Given the description of an element on the screen output the (x, y) to click on. 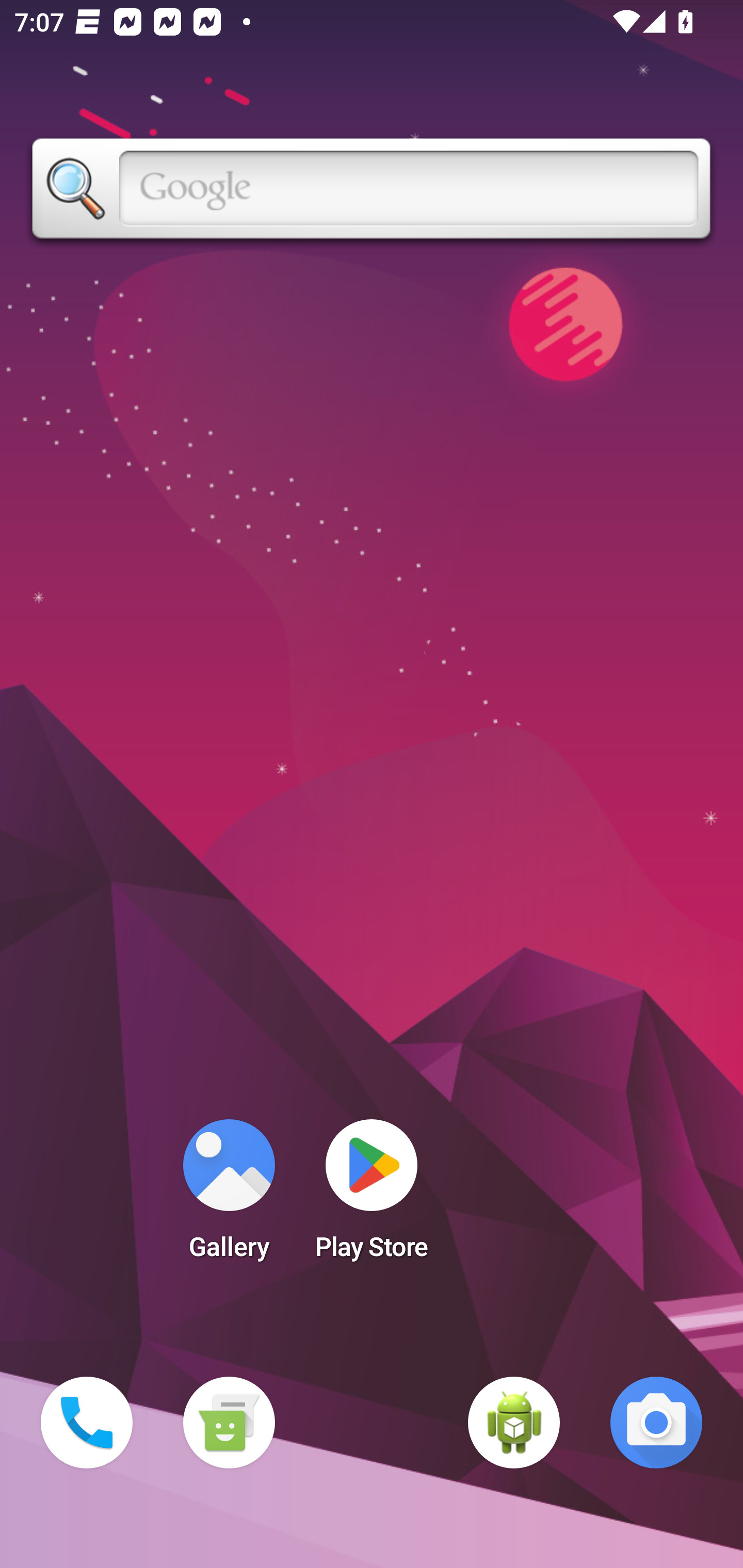
Gallery (228, 1195)
Play Store (371, 1195)
Phone (86, 1422)
Messaging (228, 1422)
WebView Browser Tester (513, 1422)
Camera (656, 1422)
